Given the description of an element on the screen output the (x, y) to click on. 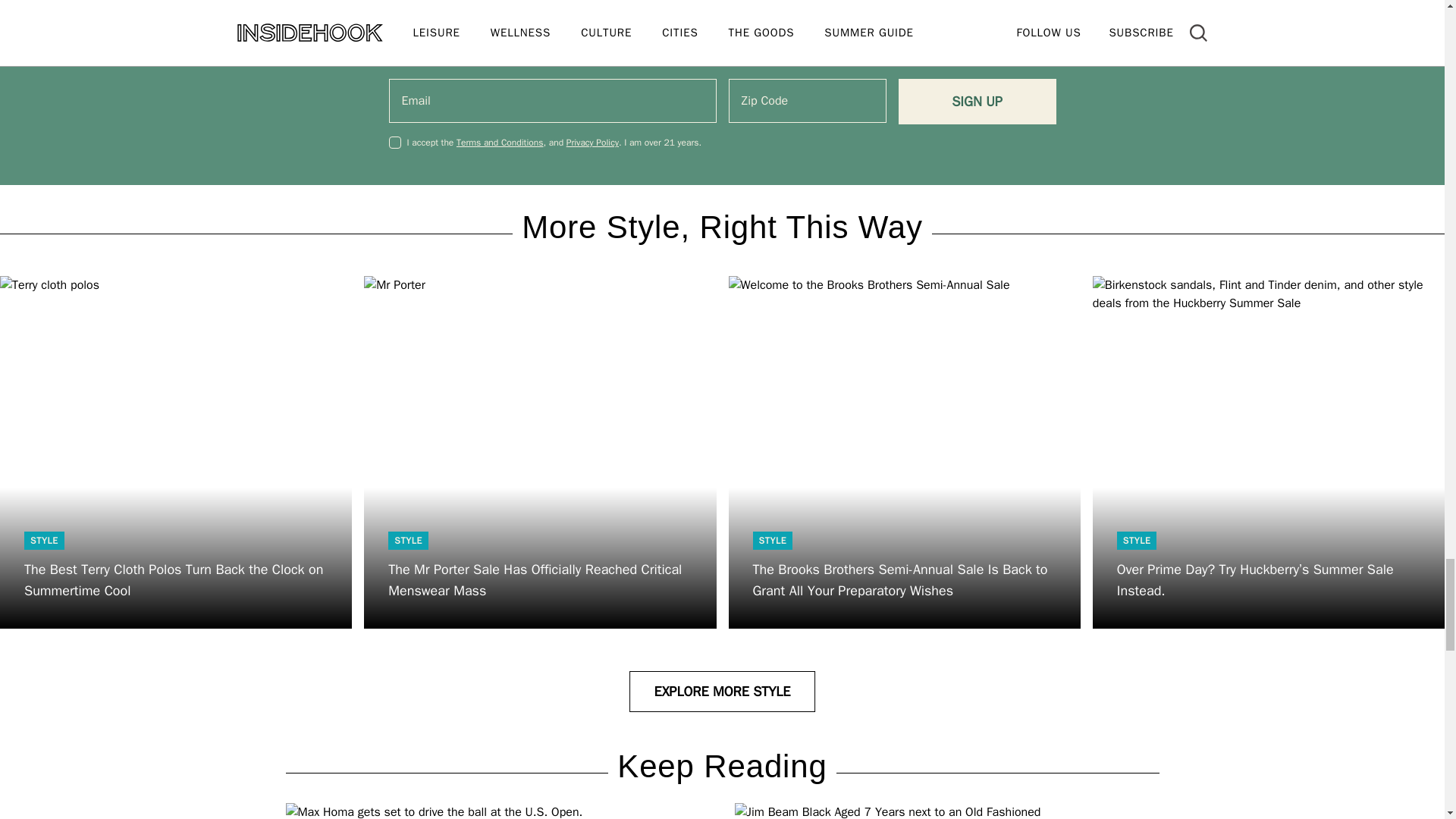
on (394, 142)
